Given the description of an element on the screen output the (x, y) to click on. 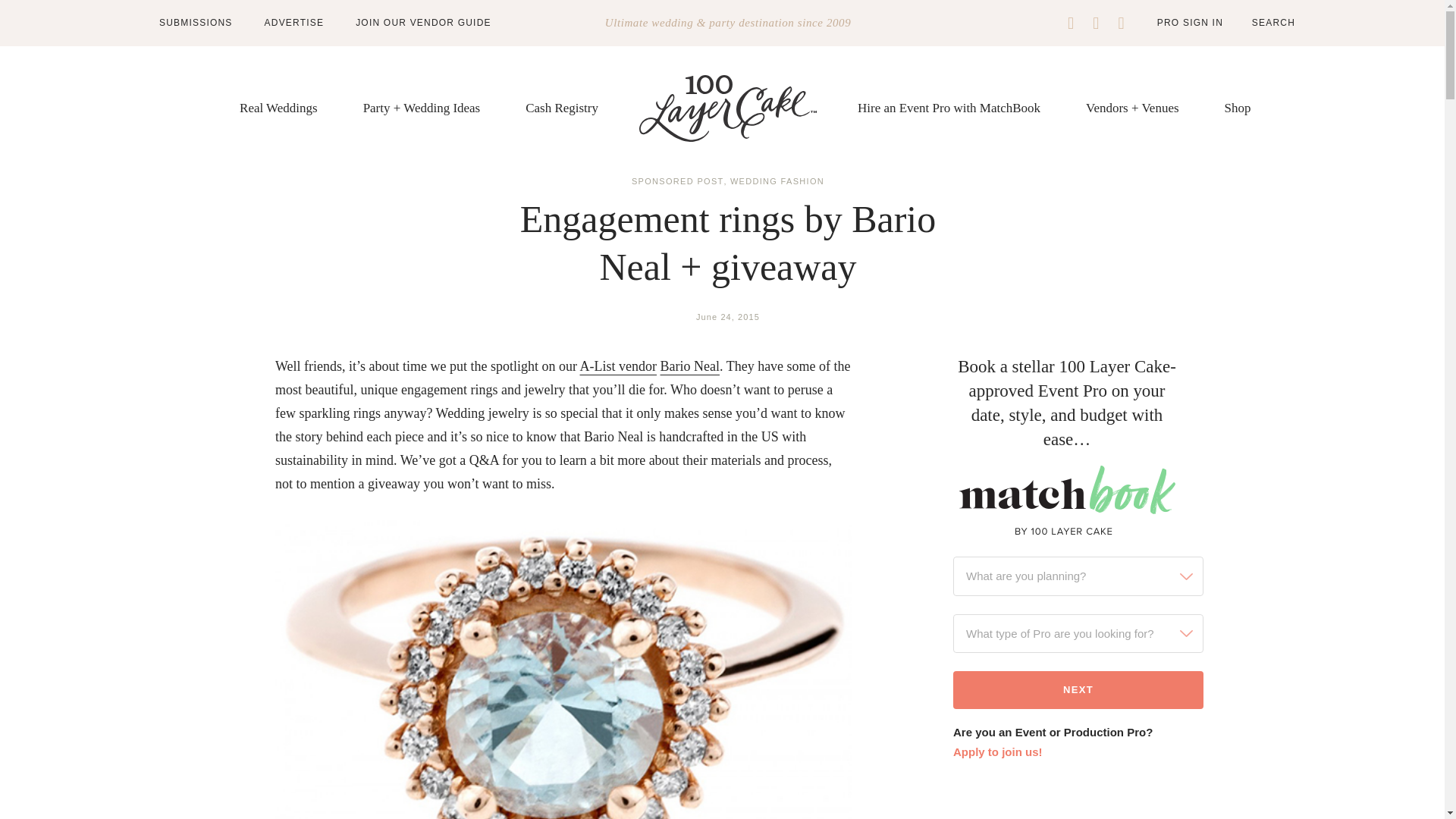
ADVERTISE (294, 22)
Search (1262, 23)
WEDDING FASHION (777, 180)
SPONSORED POST (677, 180)
JOIN OUR VENDOR GUIDE (423, 22)
Real Weddings (278, 107)
Bario Neal (689, 365)
PRO SIGN IN (1190, 22)
Hire an Event Pro with MatchBook (949, 107)
A-List vendor (617, 365)
